Given the description of an element on the screen output the (x, y) to click on. 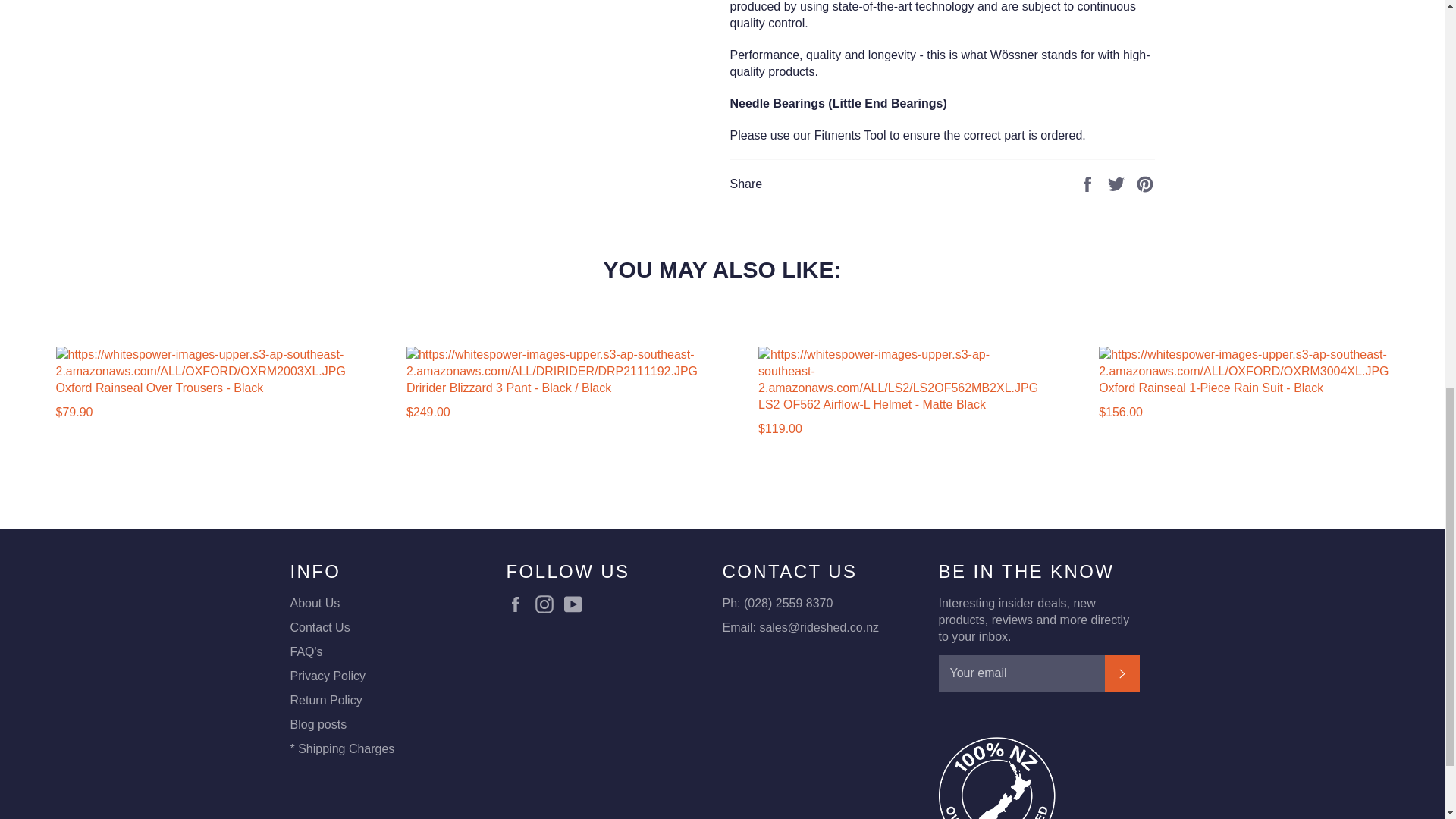
Tweet on Twitter (1117, 183)
Rideshed on YouTube (576, 604)
Share on Facebook (1088, 183)
Pin on Pinterest (1144, 183)
Rideshed on Facebook (519, 604)
Rideshed on Instagram (547, 604)
